Given the description of an element on the screen output the (x, y) to click on. 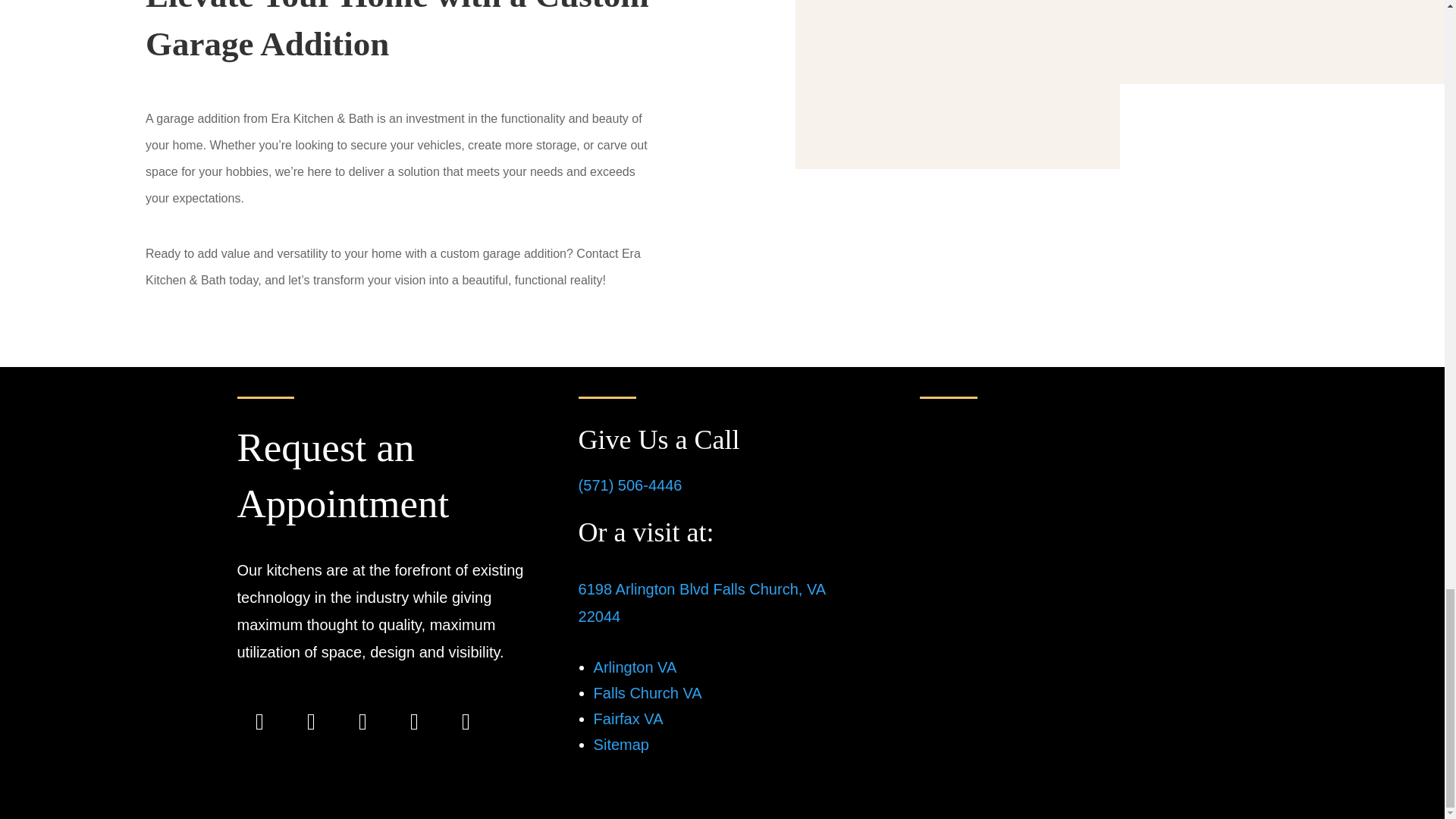
Follow on LinkedIn (413, 721)
Follow on Facebook (258, 721)
Follow on Pinterest (464, 721)
Follow on Instagram (310, 721)
Follow on Youtube (362, 721)
